Given the description of an element on the screen output the (x, y) to click on. 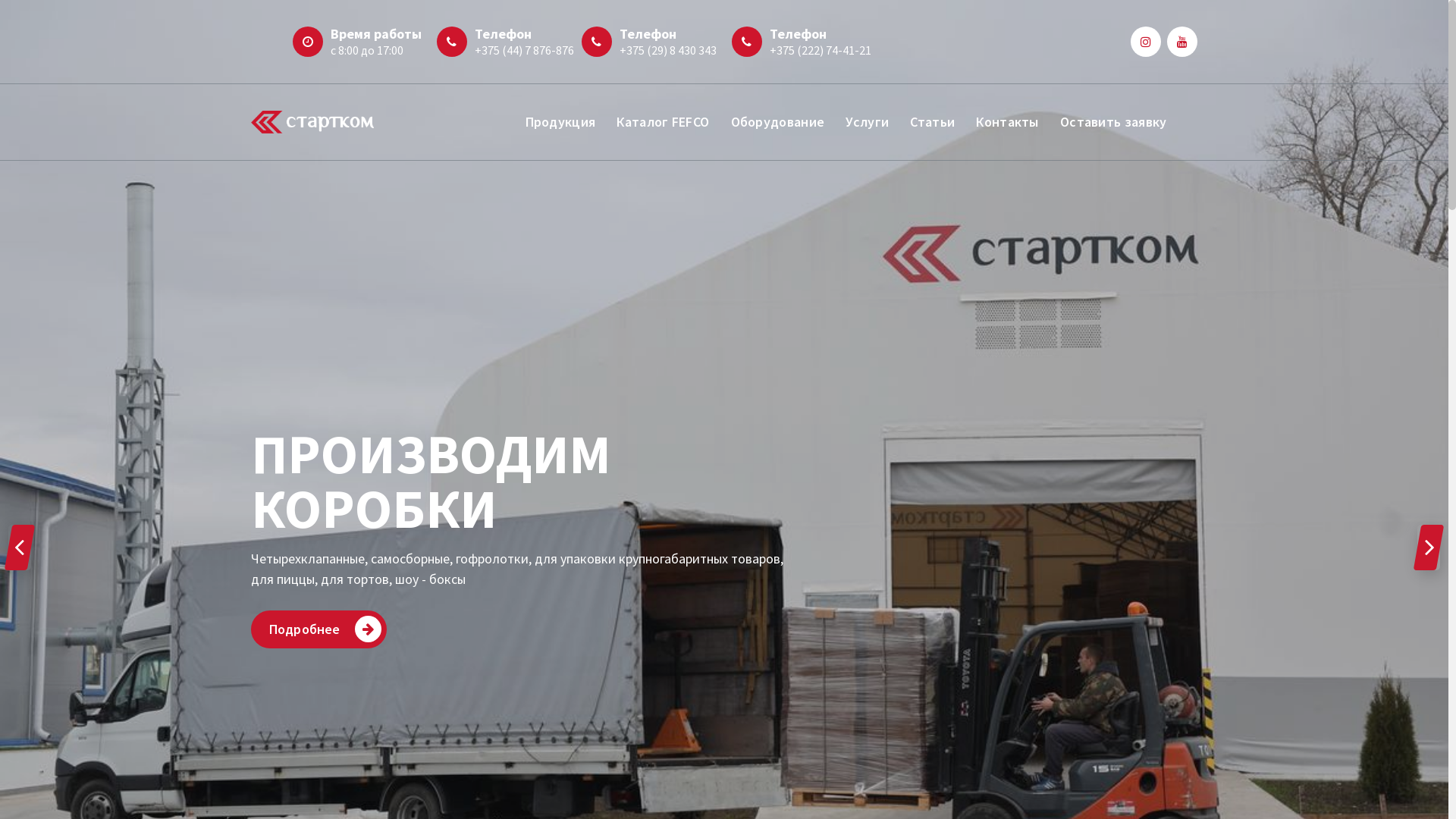
+375 (222) 74-41-21 Element type: text (820, 49)
+375 (29) 8 430 343 Element type: text (667, 49)
+375 (44) 7 876-876 Element type: text (524, 49)
